Given the description of an element on the screen output the (x, y) to click on. 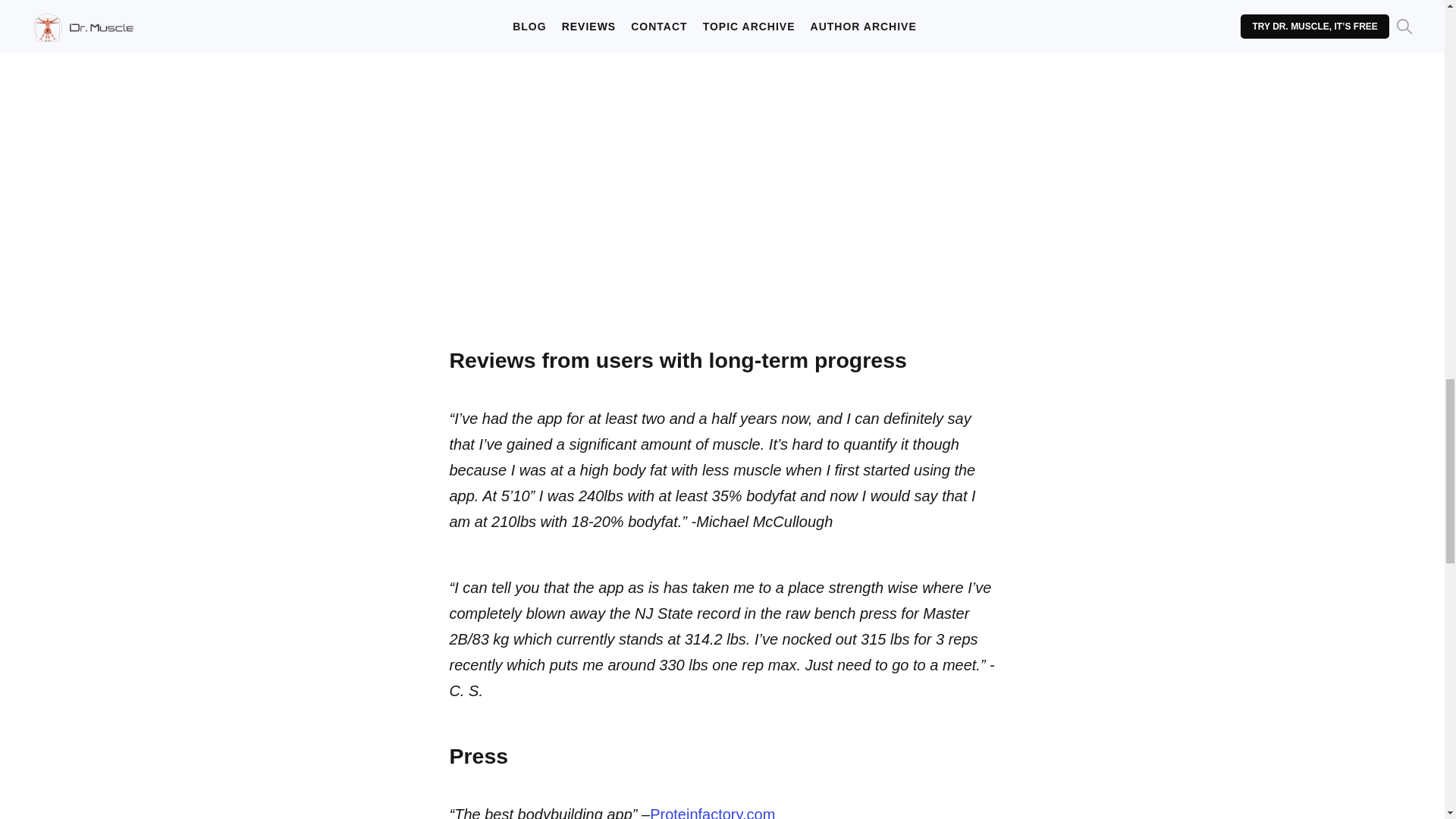
Proteinfactory.com (711, 812)
